Given the description of an element on the screen output the (x, y) to click on. 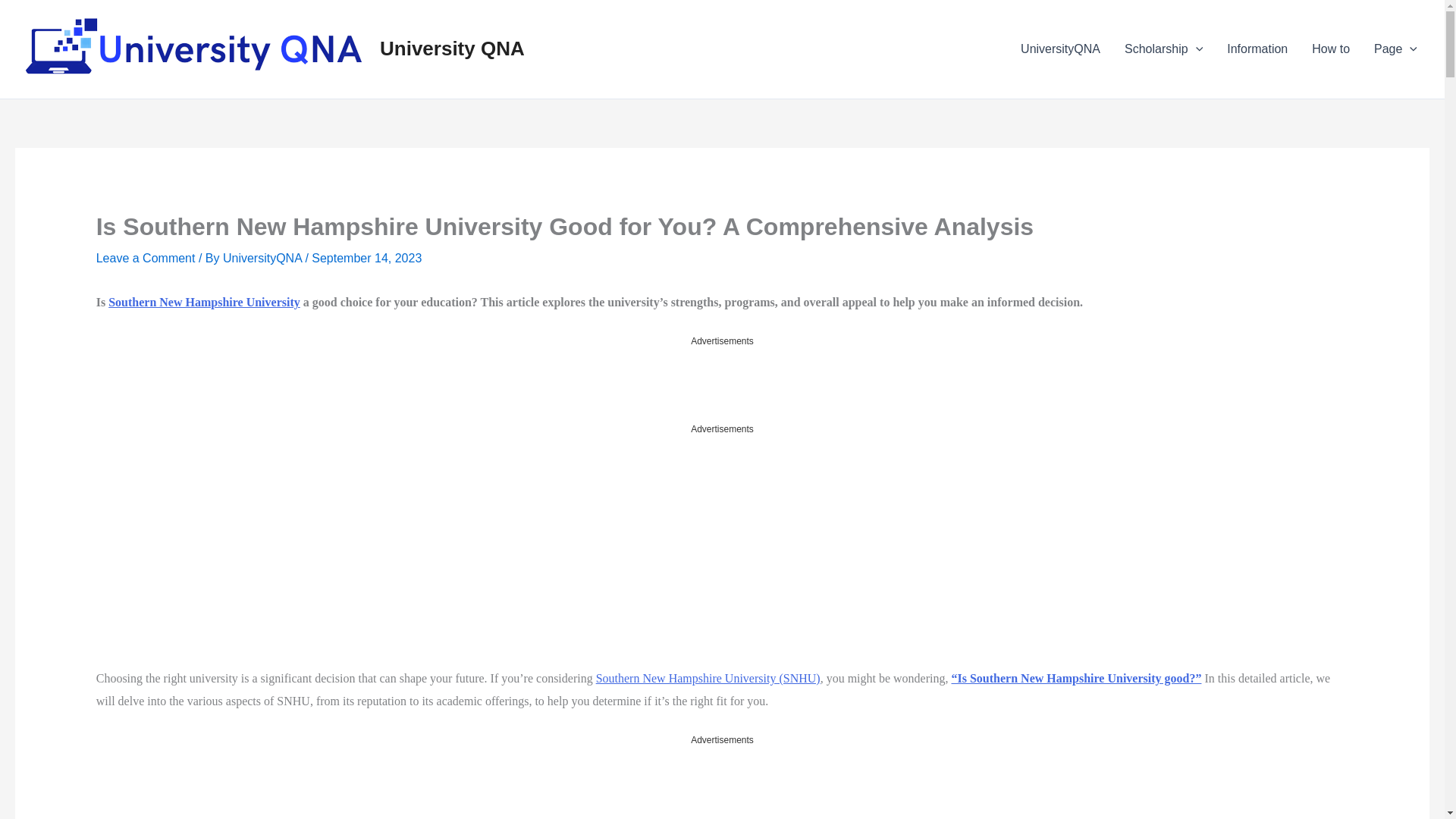
Page (1395, 48)
University QNA (452, 47)
UniversityQNA (263, 257)
View all posts by UniversityQNA (263, 257)
Advertisement (721, 384)
Advertisement (235, 551)
Leave a Comment (145, 257)
UniversityQNA (1060, 48)
Southern New Hampshire University (203, 301)
Advertisement (721, 782)
Information (1257, 48)
How to (1330, 48)
Scholarship (1163, 48)
